Given the description of an element on the screen output the (x, y) to click on. 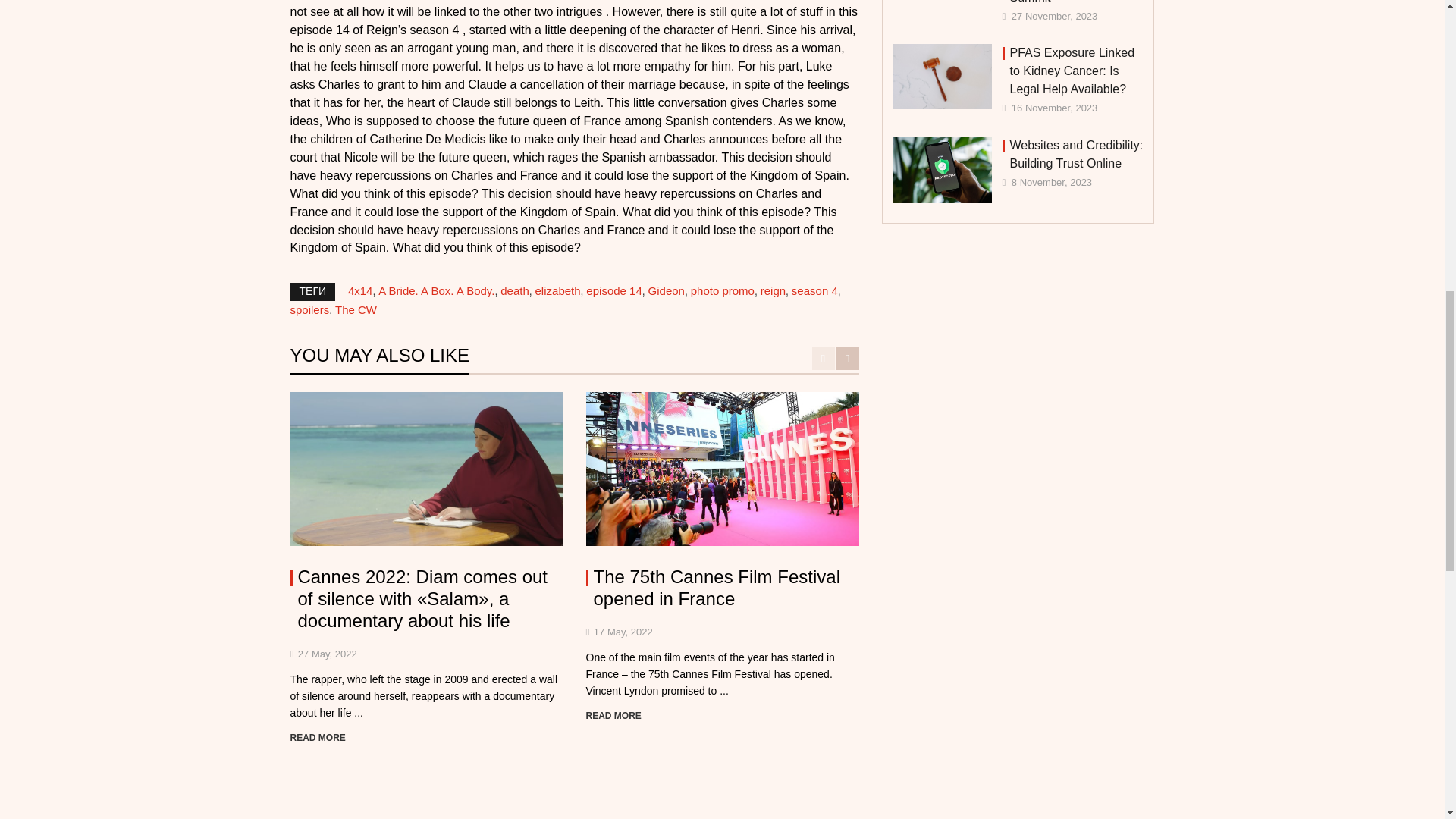
death (514, 290)
READ MORE (612, 715)
reign (773, 290)
photo promo (722, 290)
elizabeth (557, 290)
episode 14 (614, 290)
READ MORE (317, 737)
The CW (355, 309)
4x14 (359, 290)
season 4 (815, 290)
